Given the description of an element on the screen output the (x, y) to click on. 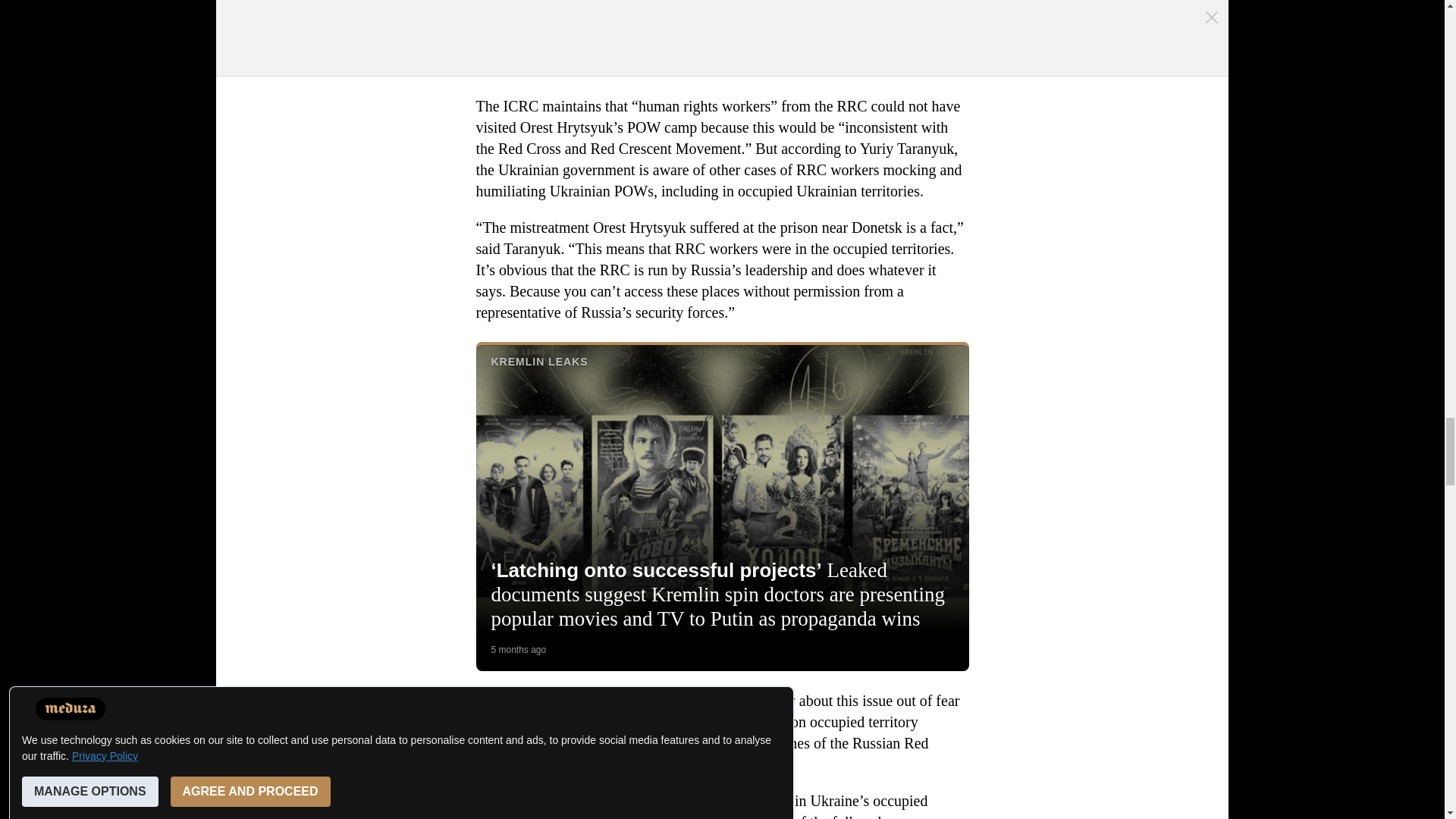
3rd party ad content (722, 36)
